Given the description of an element on the screen output the (x, y) to click on. 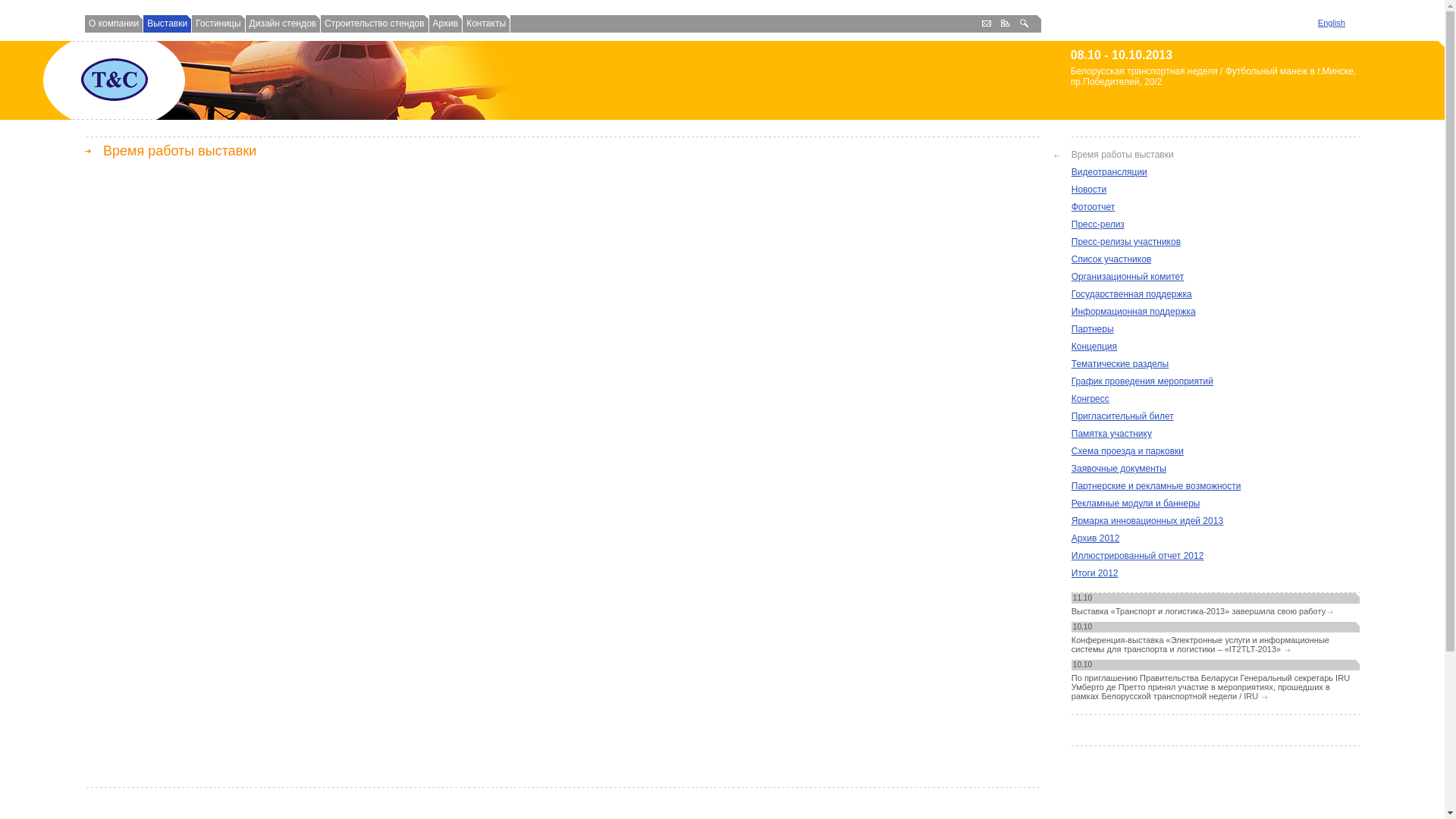
t&c Element type: hover (113, 79)
English Element type: text (1331, 22)
